Given the description of an element on the screen output the (x, y) to click on. 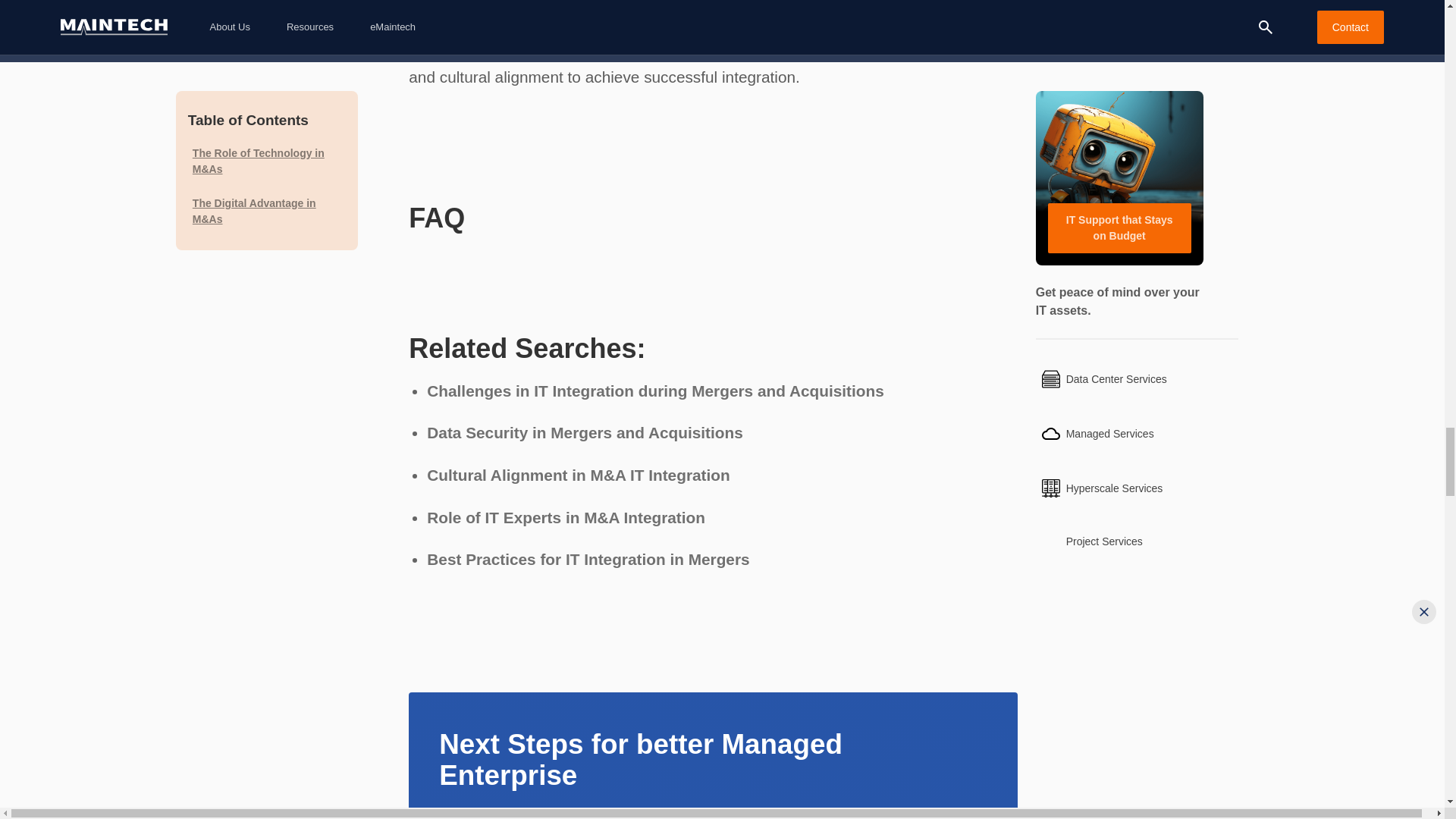
Data Security in Mergers and Acquisitions (584, 432)
Best Practices for IT Integration in Mergers (587, 559)
Challenges in IT Integration during Mergers and Acquisitions (654, 390)
